Given the description of an element on the screen output the (x, y) to click on. 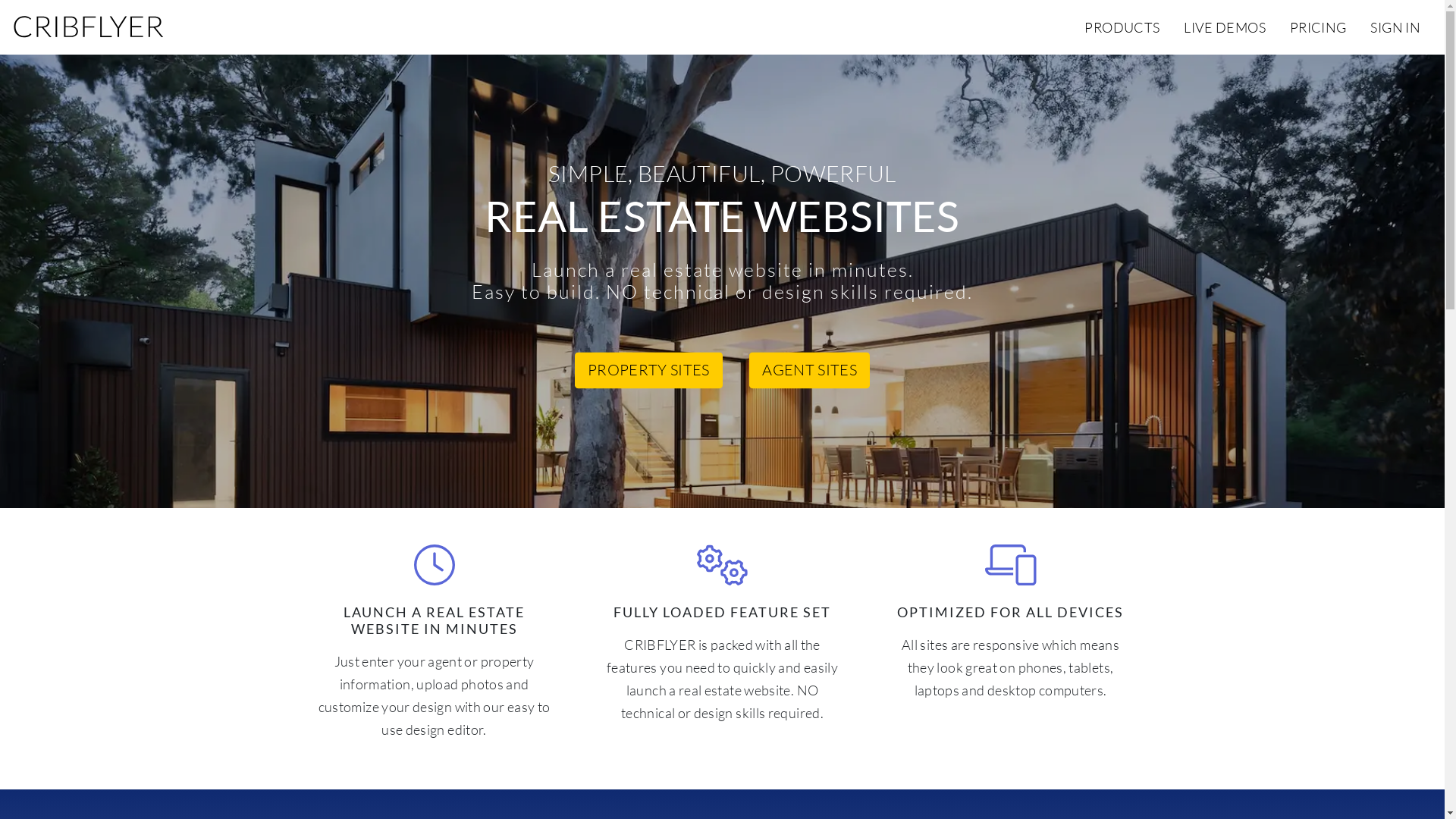
PRODUCTS Element type: text (1121, 27)
LIVE DEMOS Element type: text (1224, 27)
PRICING Element type: text (1317, 27)
PROPERTY SITES Element type: text (648, 370)
SIGN IN Element type: text (1395, 27)
AGENT SITES Element type: text (809, 370)
